Given the description of an element on the screen output the (x, y) to click on. 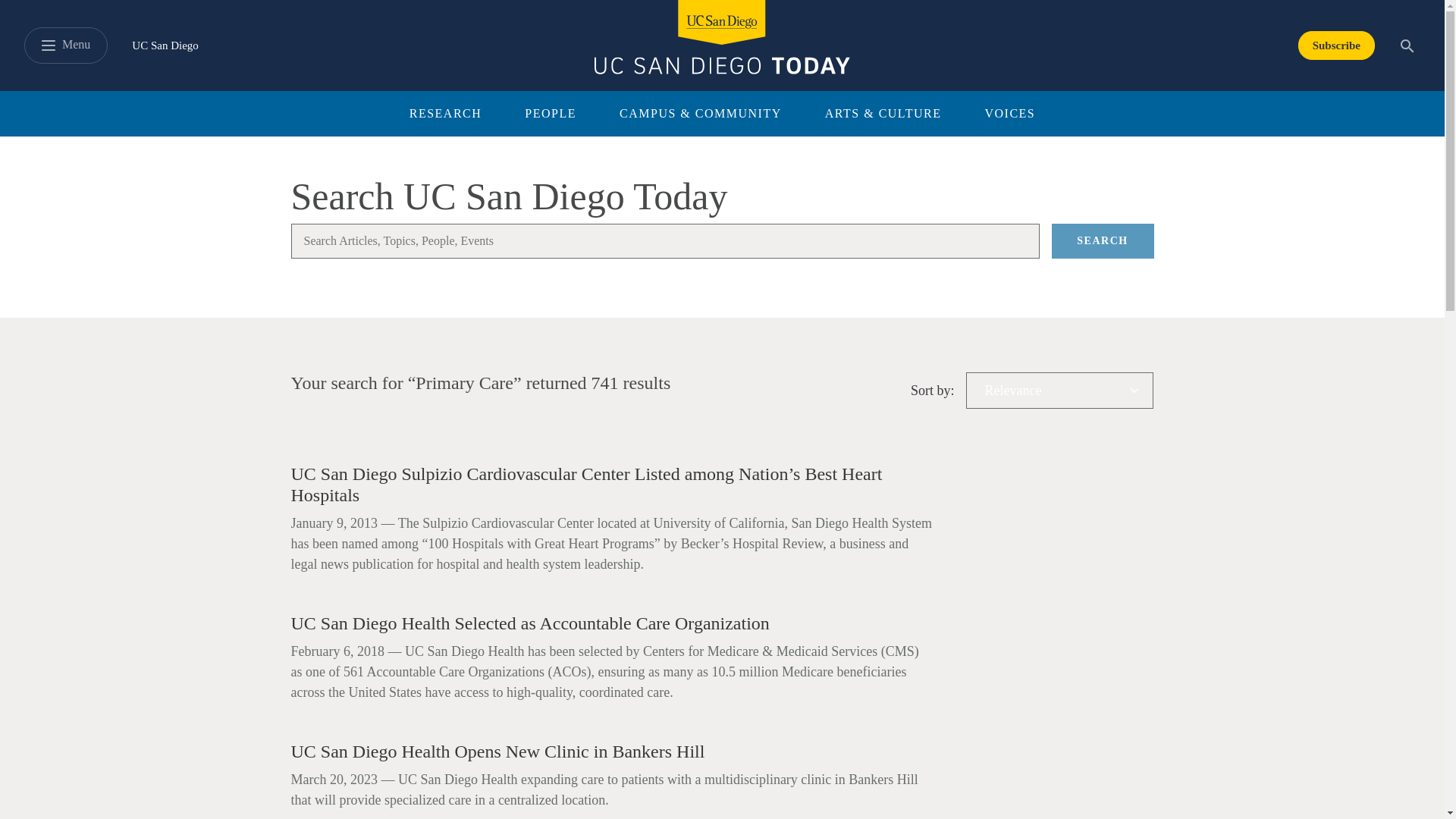
VOICES (1009, 113)
Skip to main content (56, 8)
Research (700, 113)
SEARCH (1102, 240)
Research (445, 113)
Research (882, 113)
UC San Diego Health Opens New Clinic in Bankers Hill (612, 751)
UC San Diego (164, 45)
Skip to main content (56, 8)
PEOPLE (549, 113)
